Given the description of an element on the screen output the (x, y) to click on. 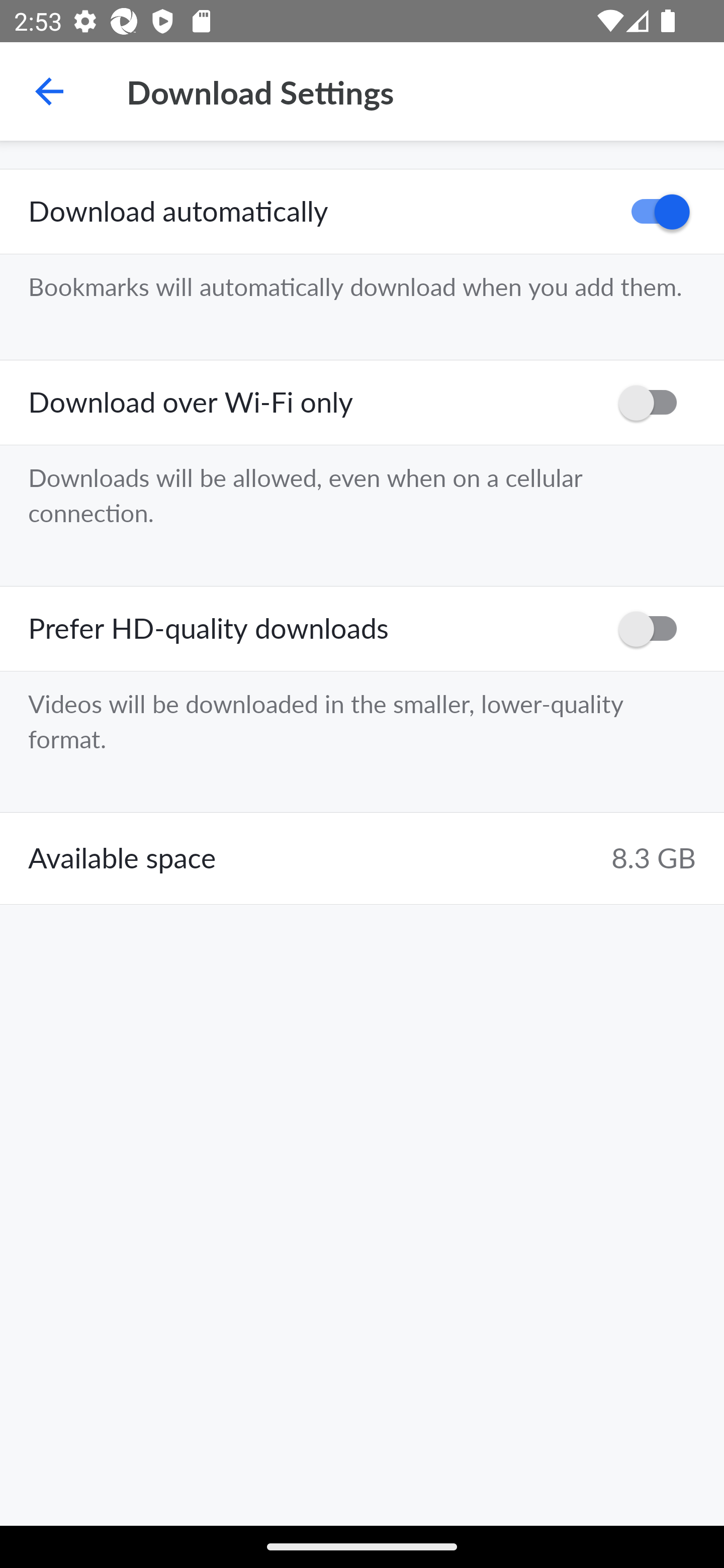
Navigate up (49, 91)
ON (653, 211)
OFF (653, 402)
OFF (653, 628)
